Given the description of an element on the screen output the (x, y) to click on. 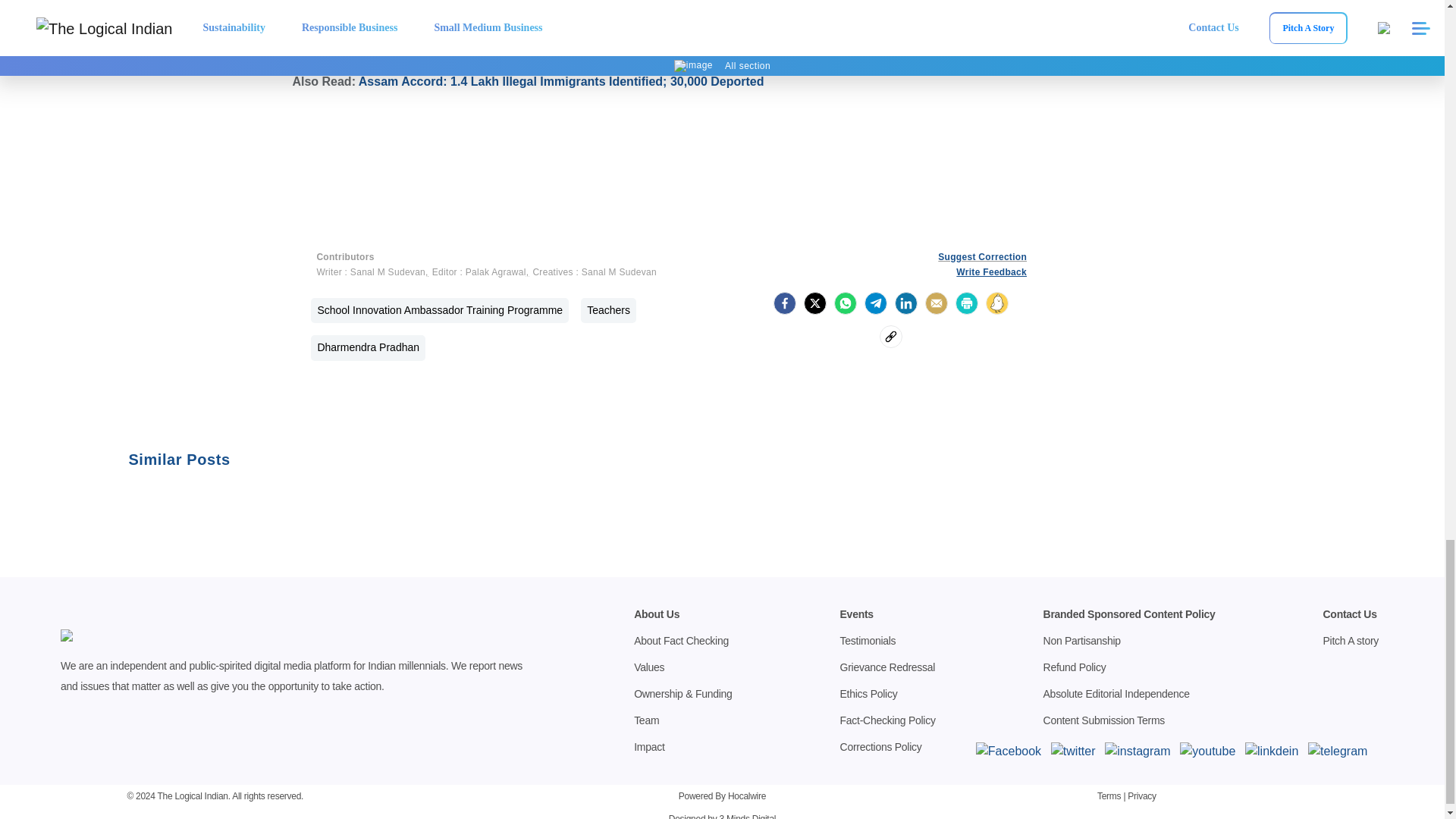
Share by Email (935, 302)
LinkedIn (906, 302)
